Given the description of an element on the screen output the (x, y) to click on. 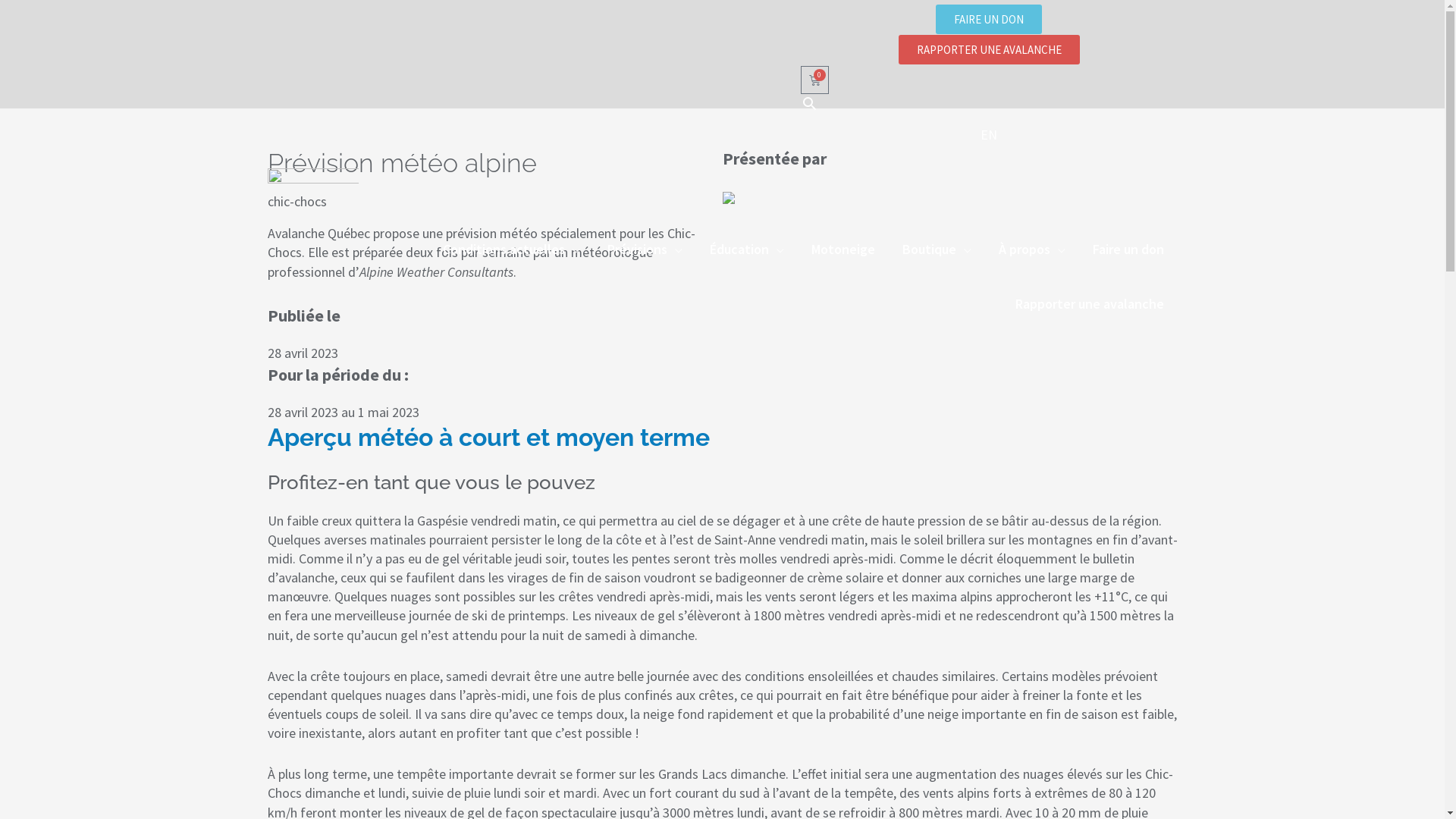
FAIRE UN DON Element type: text (988, 19)
Motoneige Element type: text (842, 249)
RAPPORTER UNE AVALANCHE Element type: text (988, 49)
Rapporter une avalanche Element type: text (1088, 303)
Boutique Element type: text (936, 249)
EN Element type: text (988, 134)
0 Element type: text (814, 79)
Conditions actuelles Element type: text (511, 249)
Faire un don Element type: text (1127, 249)
